Given the description of an element on the screen output the (x, y) to click on. 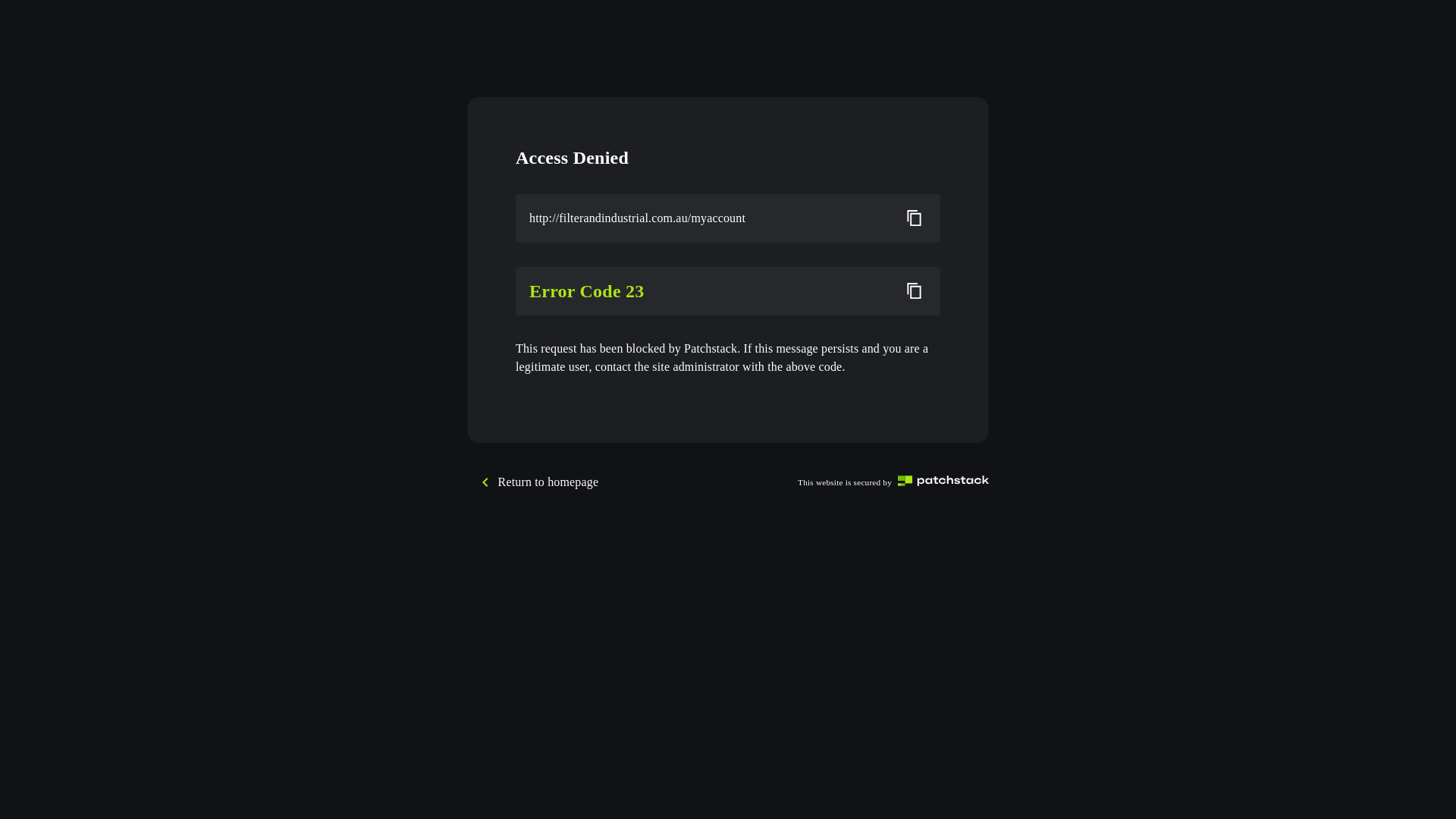
Return to homepage Element type: text (548, 482)
